Given the description of an element on the screen output the (x, y) to click on. 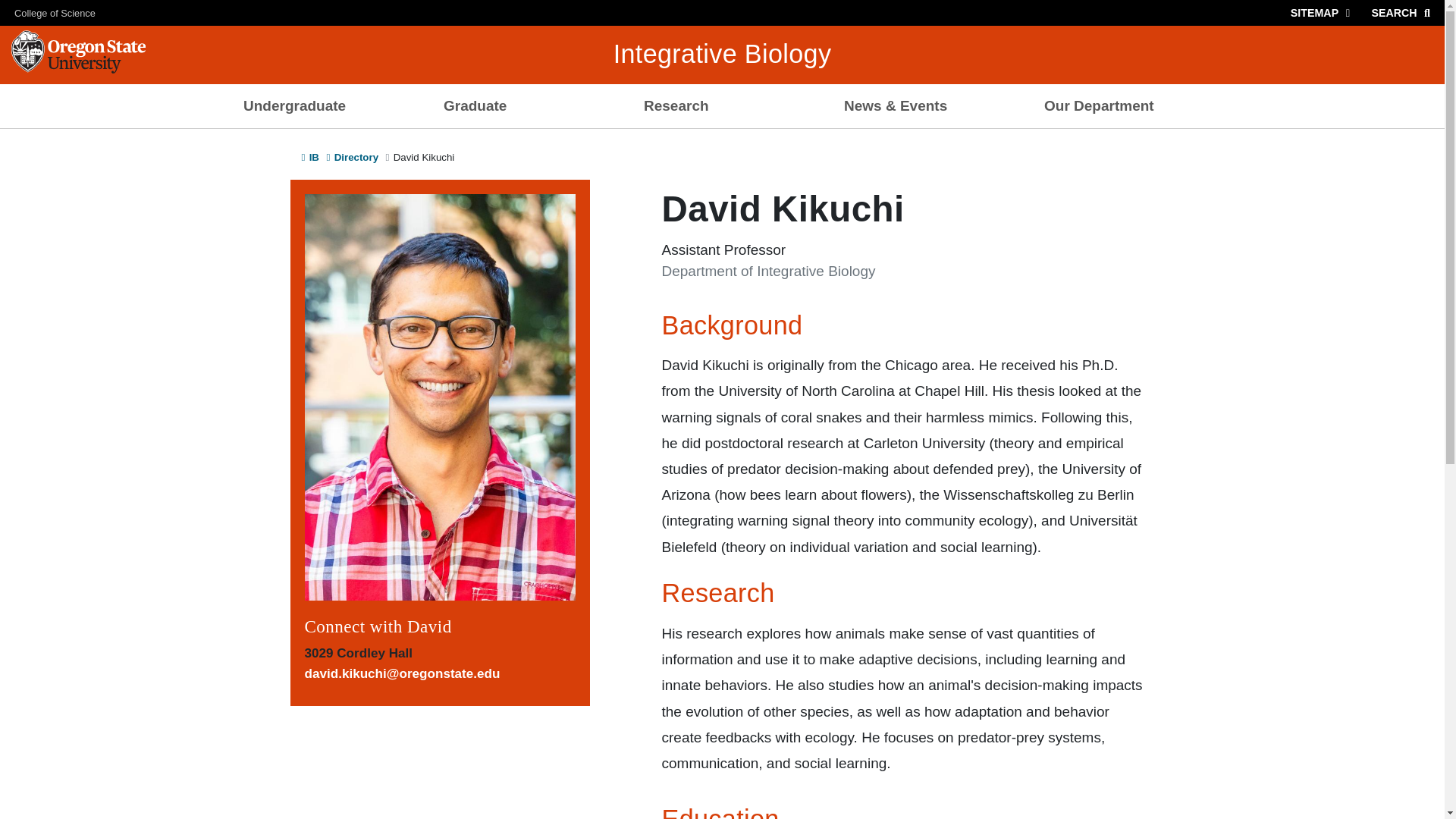
College of Science (48, 12)
SITEMAP (1323, 12)
Biodiversity and Conservation (721, 142)
Undergraduate (321, 105)
Student Life (521, 142)
Graduate (521, 105)
Seminars (922, 142)
Integrative Biology (721, 53)
Research (721, 105)
